Given the description of an element on the screen output the (x, y) to click on. 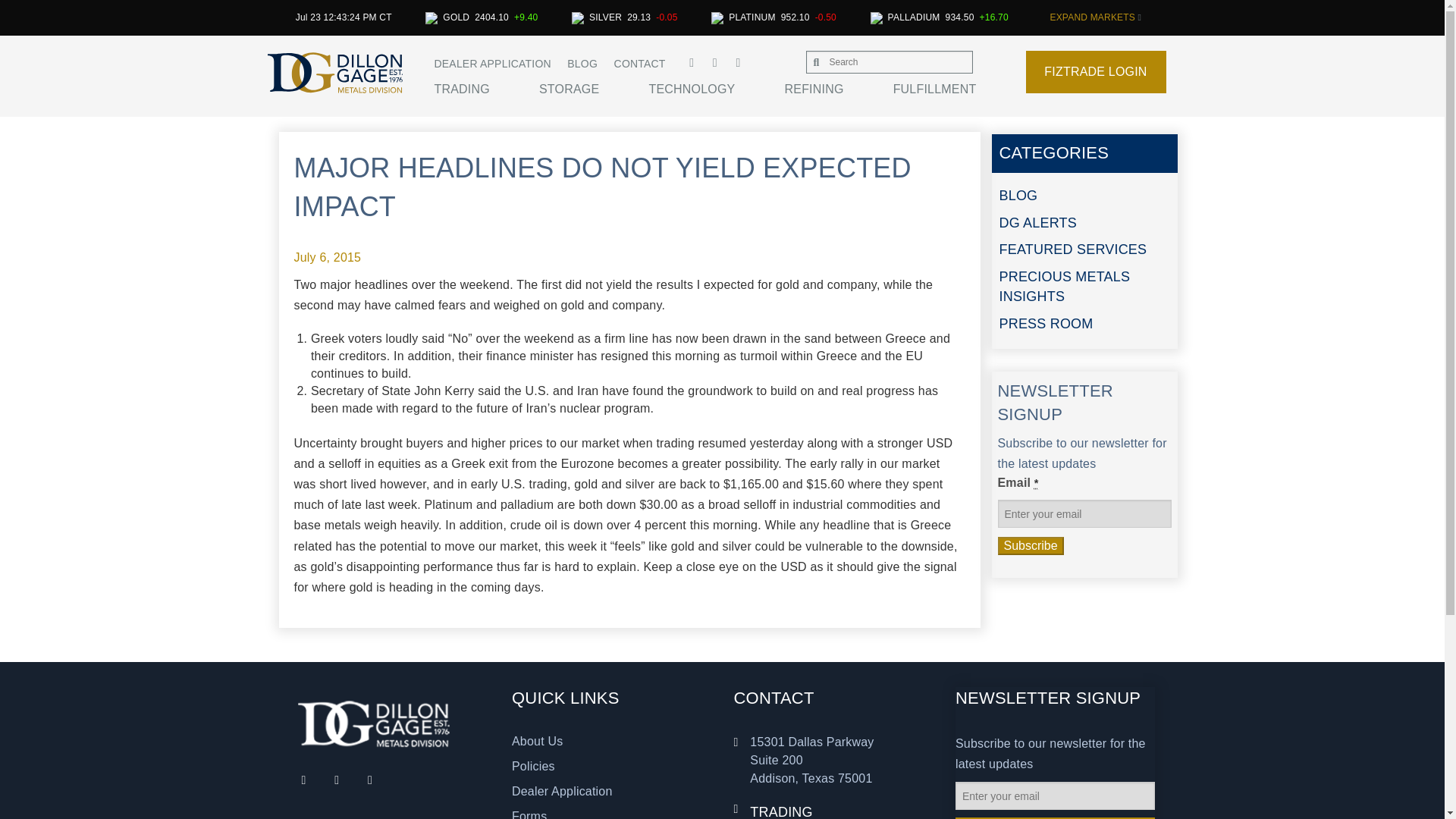
TRADING (485, 89)
EXPAND MARKETS (1095, 17)
Dillon Gage (373, 723)
CONTACT (639, 63)
DEALER APPLICATION (491, 63)
facebook (738, 62)
STORAGE (592, 89)
required (1036, 482)
youtube (696, 62)
BLOG (581, 63)
Subscribe (1030, 546)
twitter (716, 62)
